Given the description of an element on the screen output the (x, y) to click on. 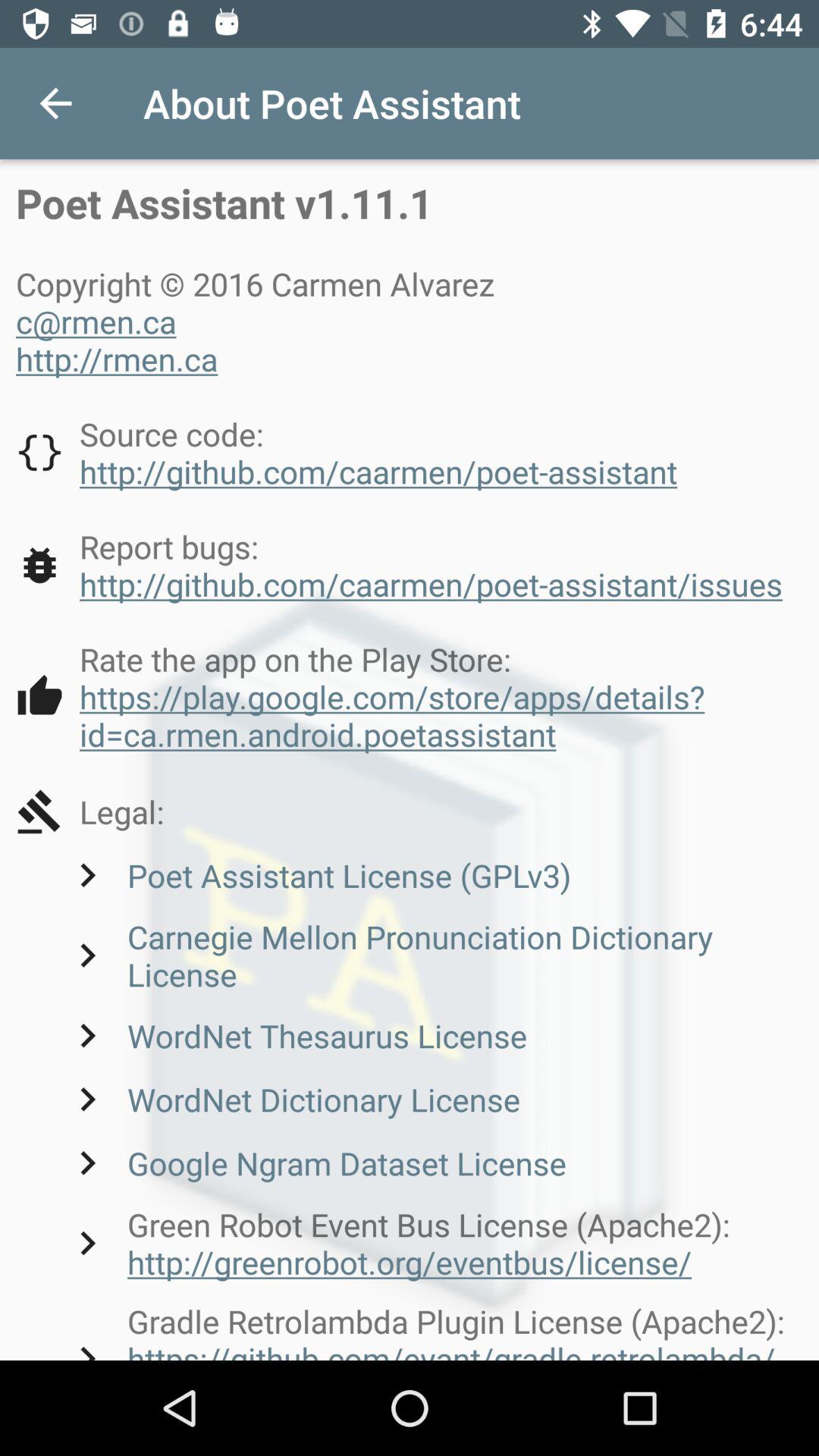
select google ngram dataset (314, 1162)
